Given the description of an element on the screen output the (x, y) to click on. 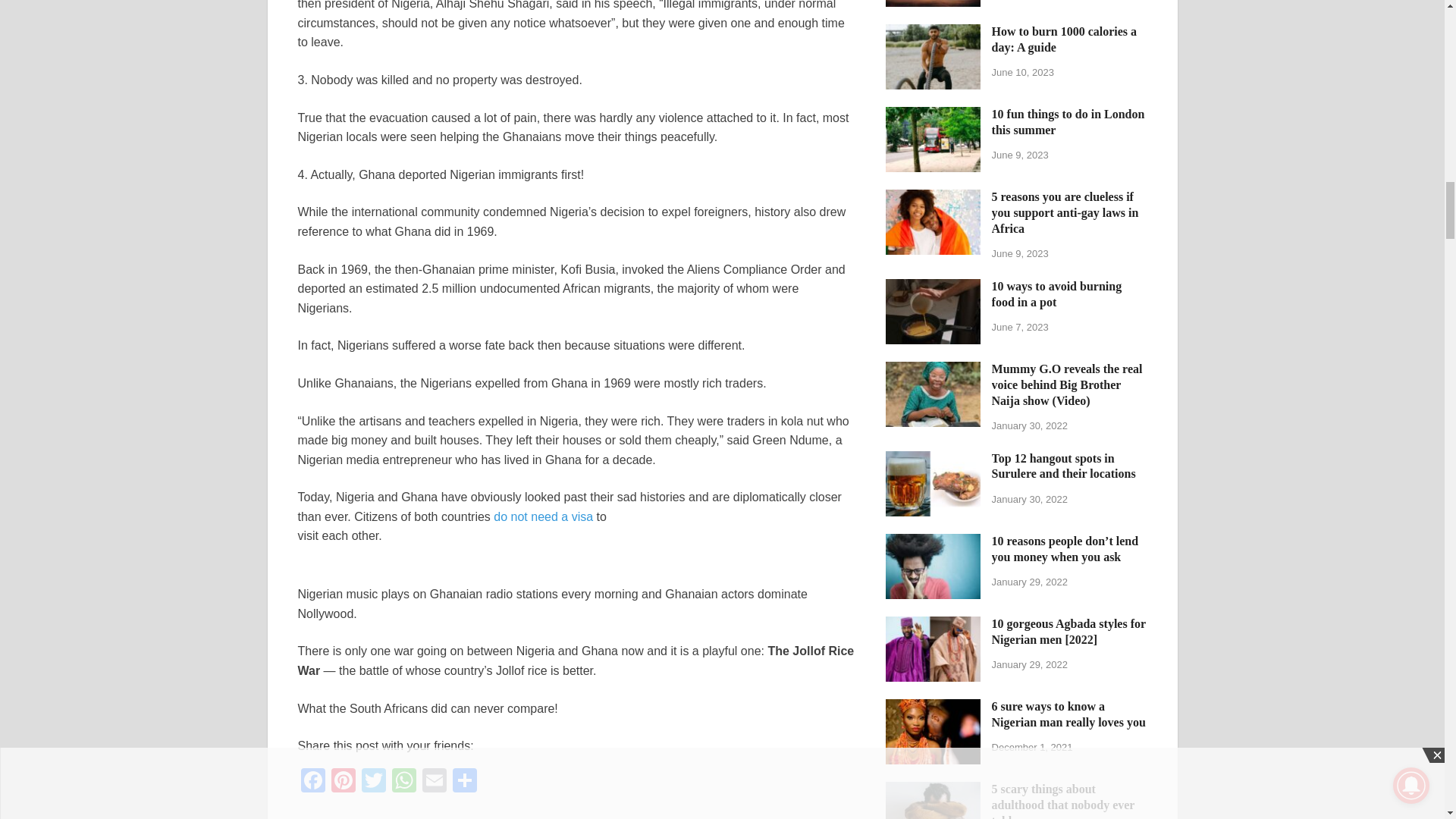
WhatsApp (403, 782)
Facebook (312, 782)
Twitter (373, 782)
Email (433, 782)
Pinterest (342, 782)
